Given the description of an element on the screen output the (x, y) to click on. 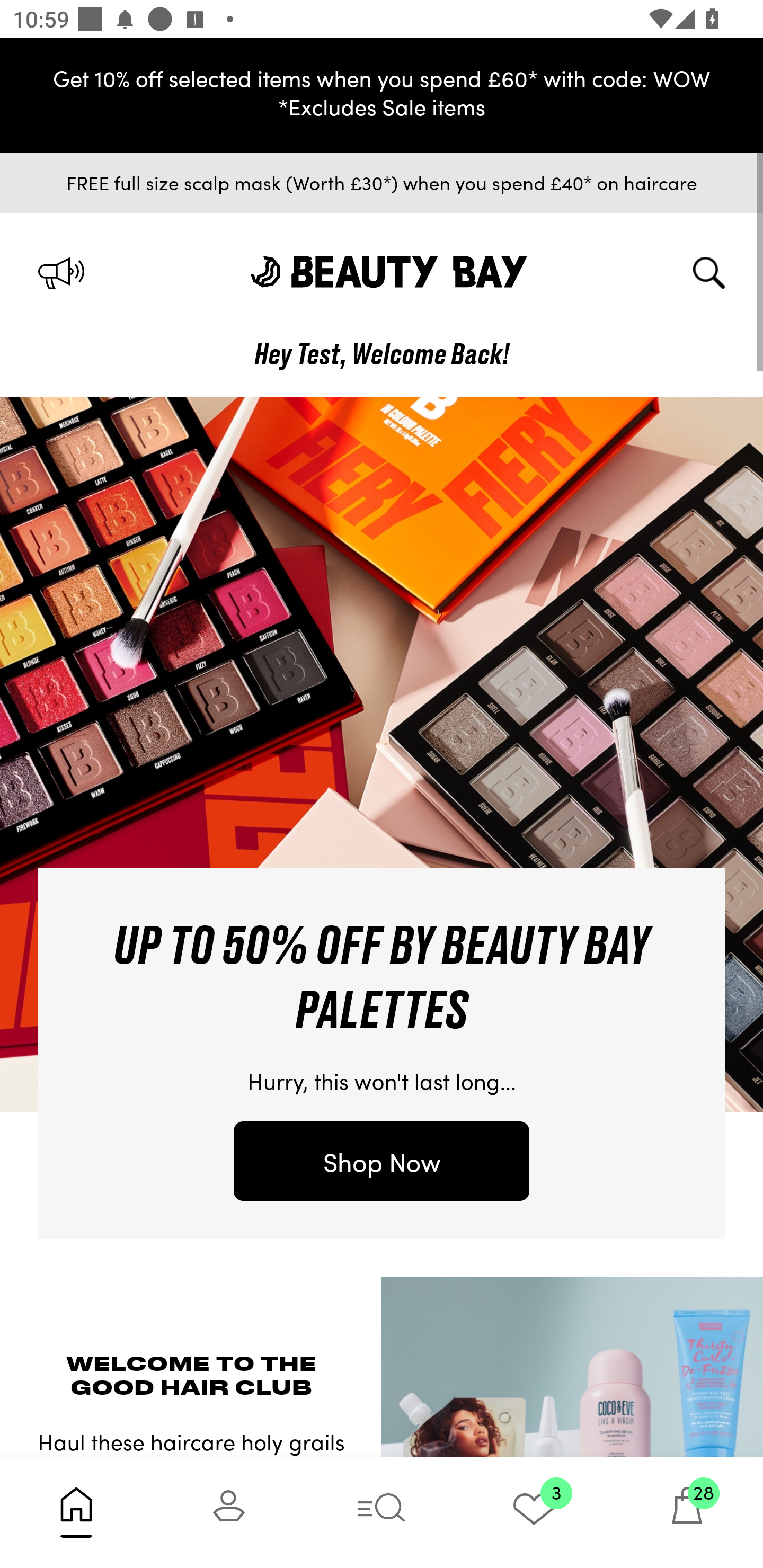
3 (533, 1512)
28 (686, 1512)
